Given the description of an element on the screen output the (x, y) to click on. 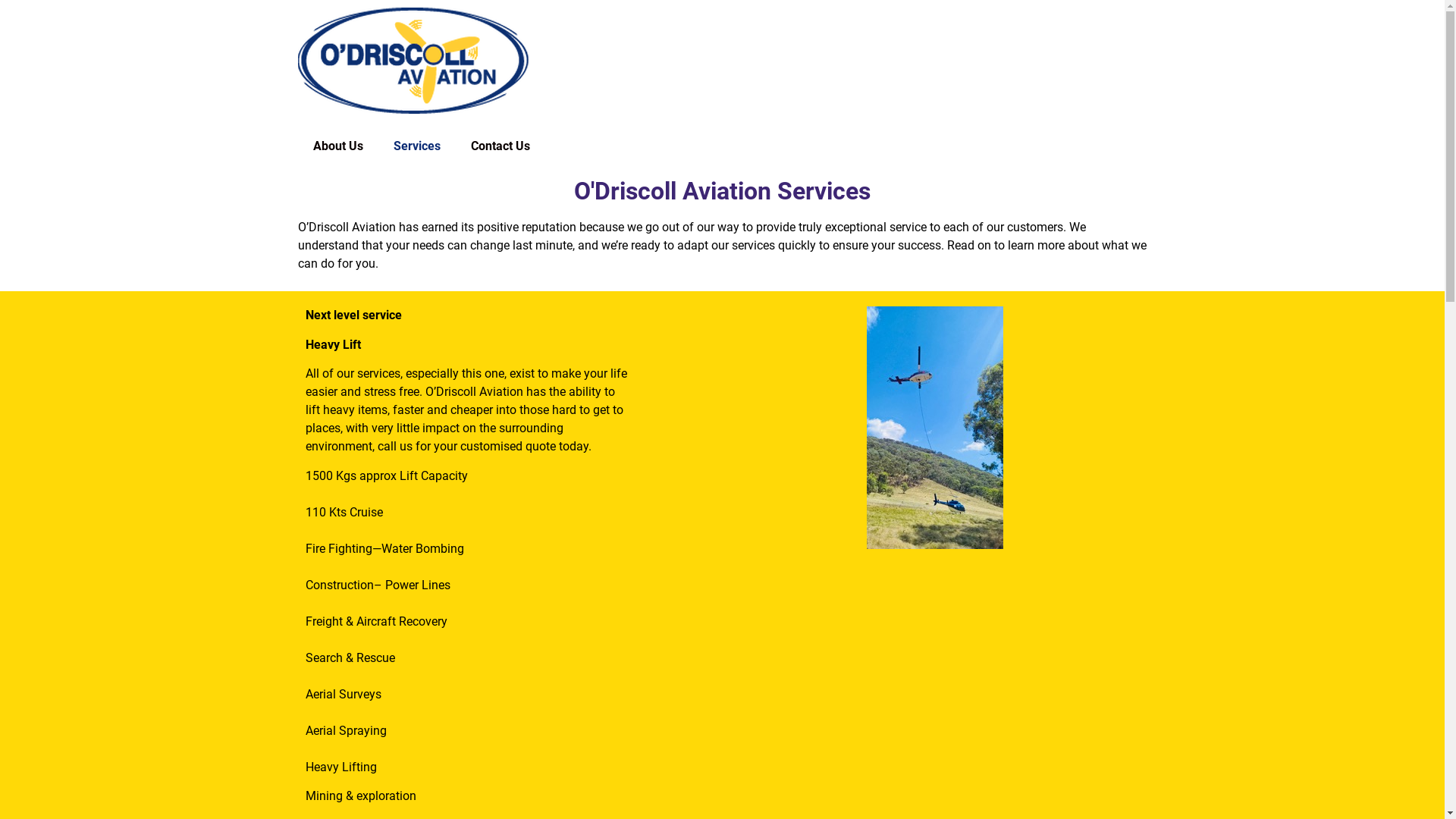
About Us Element type: text (337, 145)
Services Element type: text (416, 145)
Contact Us Element type: text (499, 145)
